Given the description of an element on the screen output the (x, y) to click on. 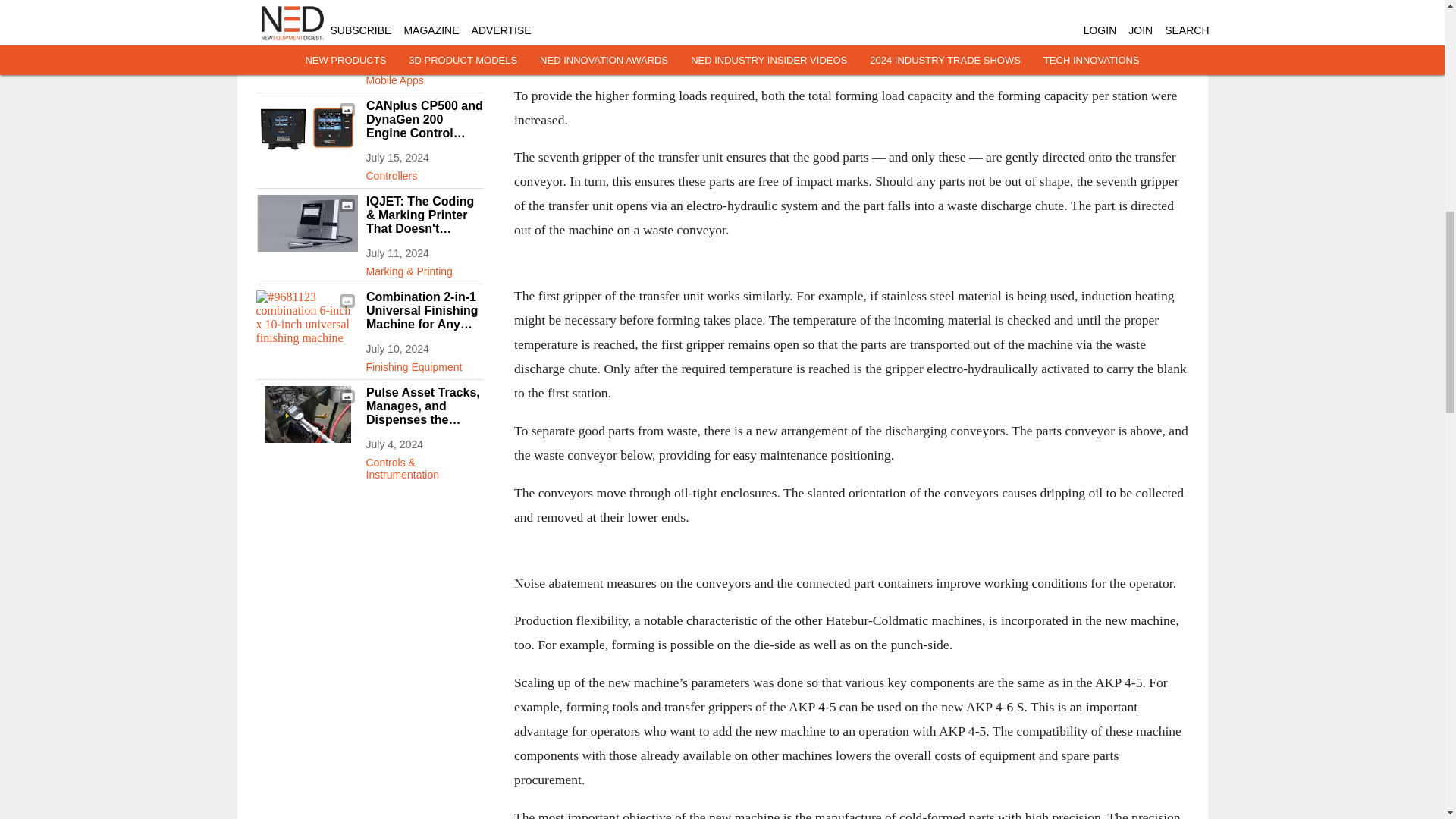
Pulse Asset (307, 414)
CP500 and DynaGen 200 (307, 127)
IQJET (307, 222)
